Given the description of an element on the screen output the (x, y) to click on. 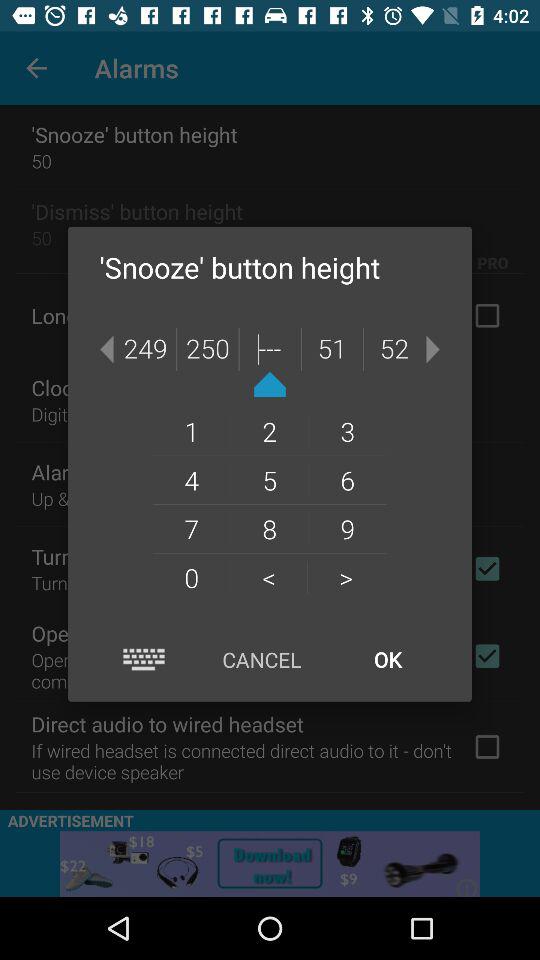
turn on the < icon (268, 577)
